Given the description of an element on the screen output the (x, y) to click on. 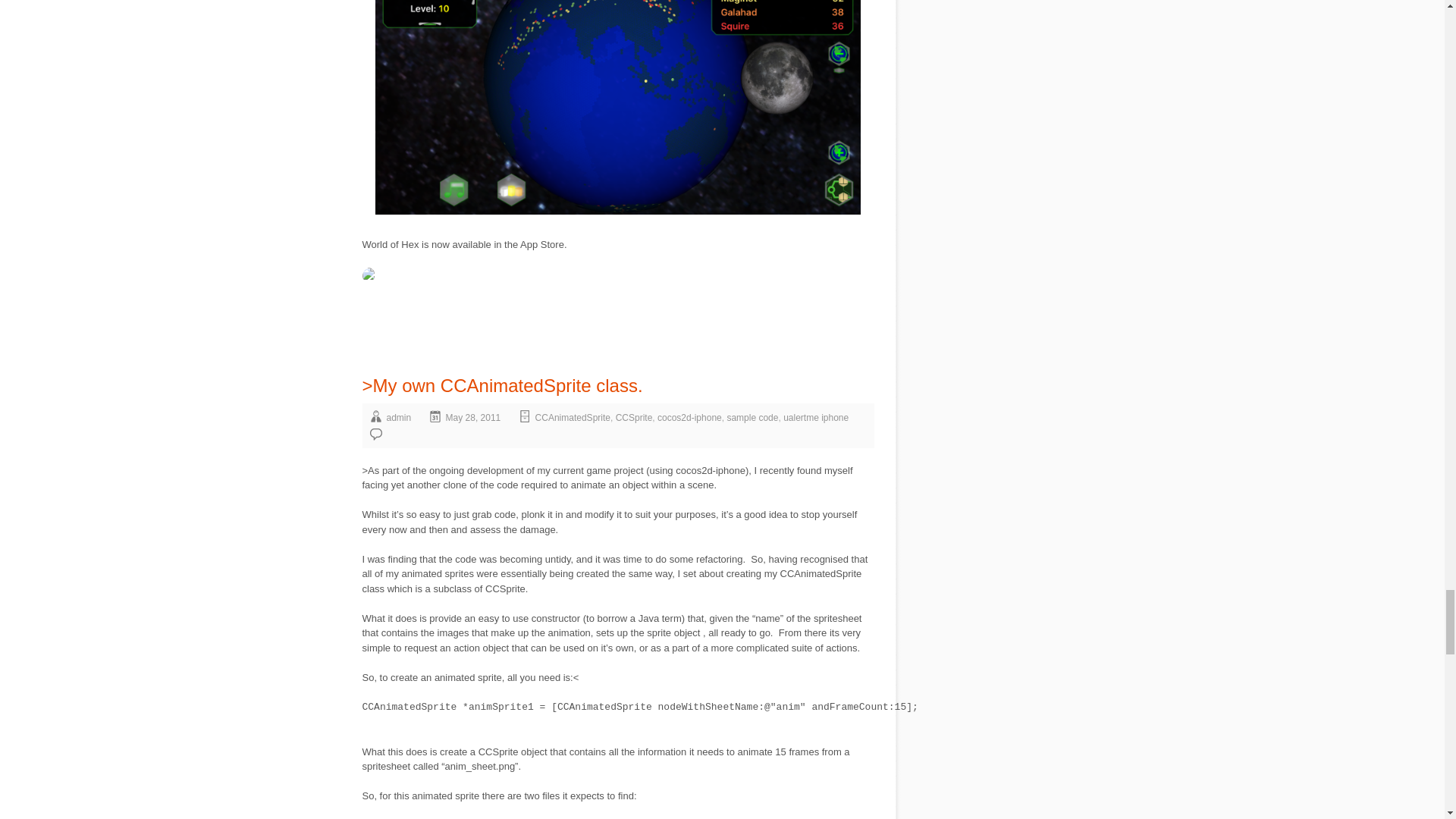
admin (399, 417)
